Given the description of an element on the screen output the (x, y) to click on. 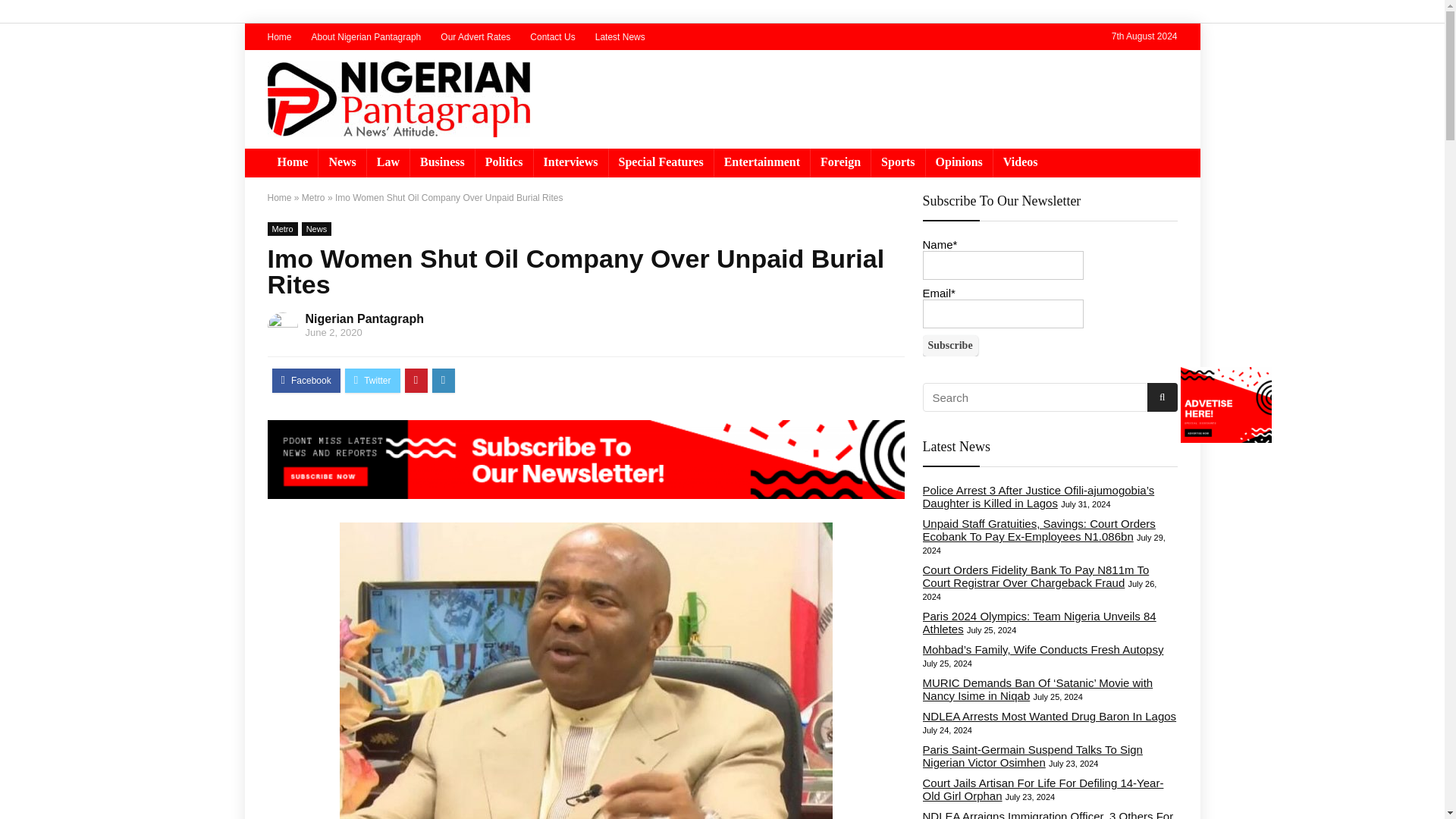
Entertainment (761, 162)
Law (387, 162)
Subscribe (948, 345)
Interviews (571, 162)
Contact Us (552, 36)
News (316, 228)
View all posts in Metro (281, 228)
Sports (897, 162)
Home (278, 197)
Politics (504, 162)
Foreign (840, 162)
Special Features (660, 162)
Latest News (620, 36)
Videos (1020, 162)
News (341, 162)
